Given the description of an element on the screen output the (x, y) to click on. 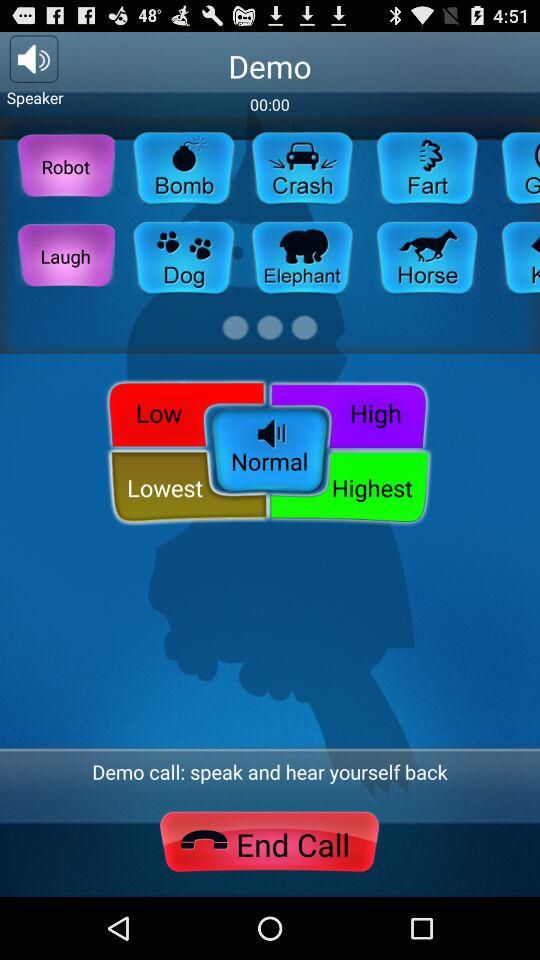
turn off the normal icon (269, 452)
